Given the description of an element on the screen output the (x, y) to click on. 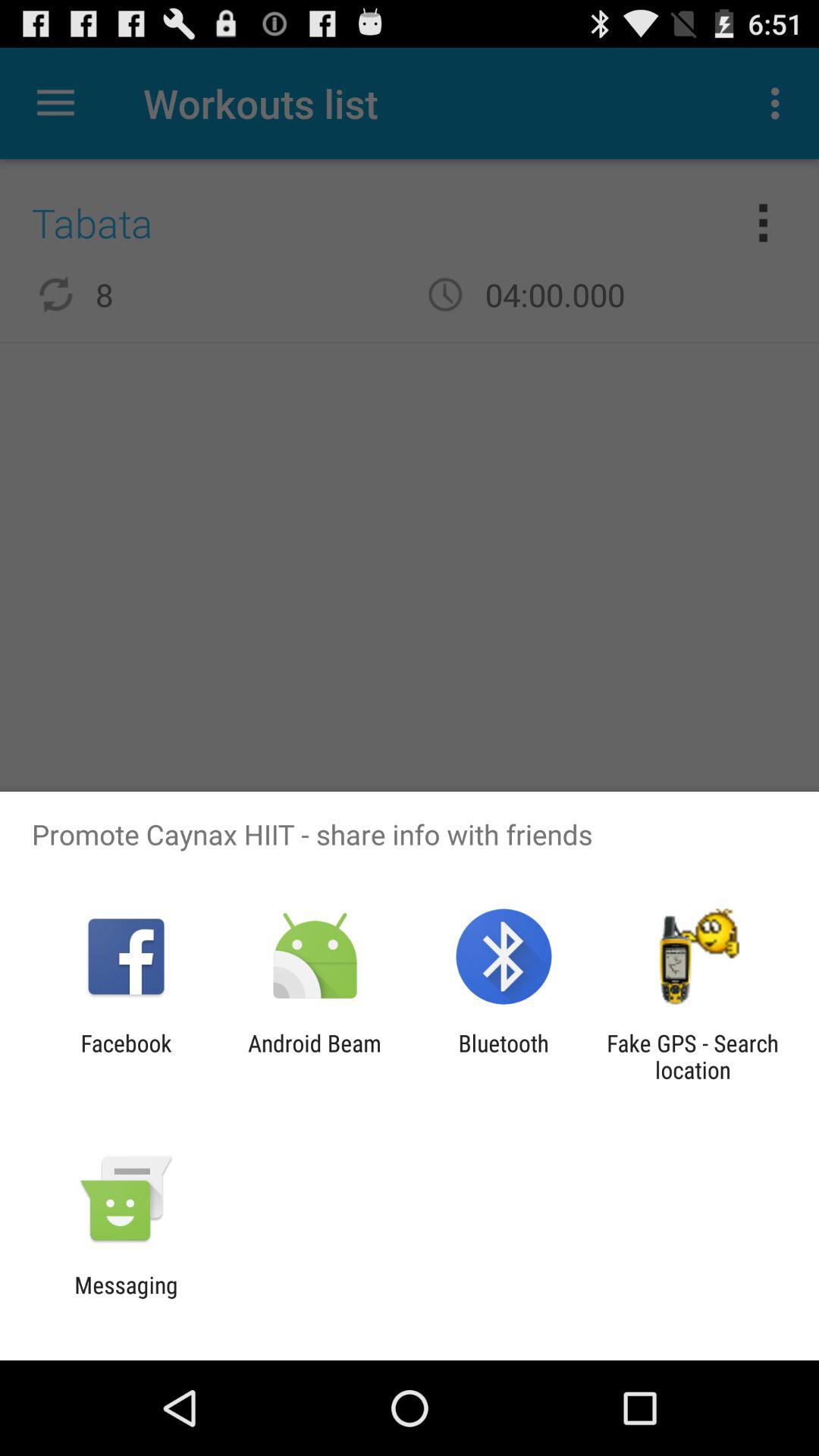
launch app next to the android beam app (503, 1056)
